Given the description of an element on the screen output the (x, y) to click on. 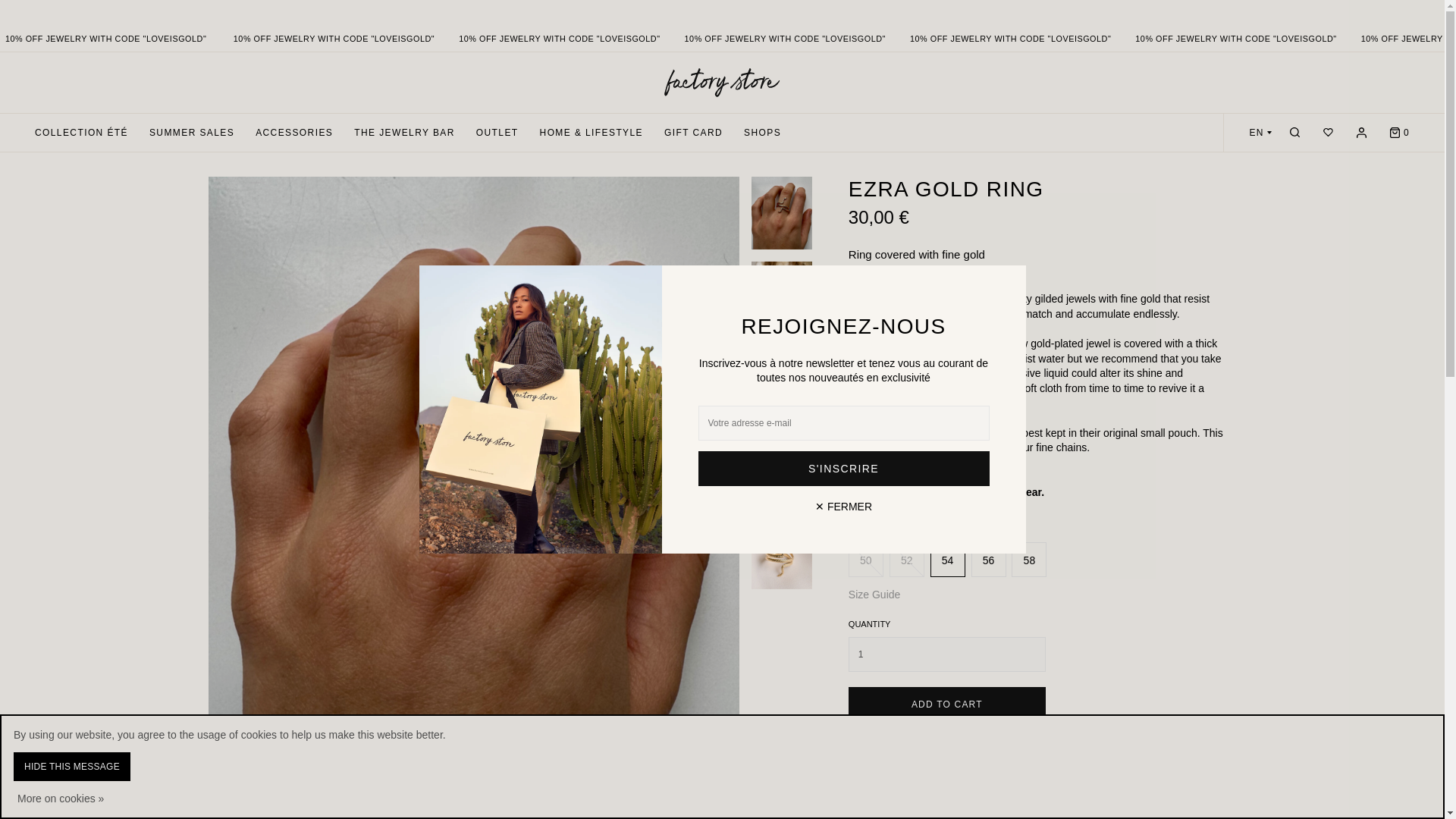
1 (946, 654)
Summer sales (191, 132)
HIDE THIS MESSAGE (72, 766)
More on cookies (60, 798)
SUMMER SALES (191, 132)
Hide this message (72, 766)
ACCESSORIES (293, 132)
